Given the description of an element on the screen output the (x, y) to click on. 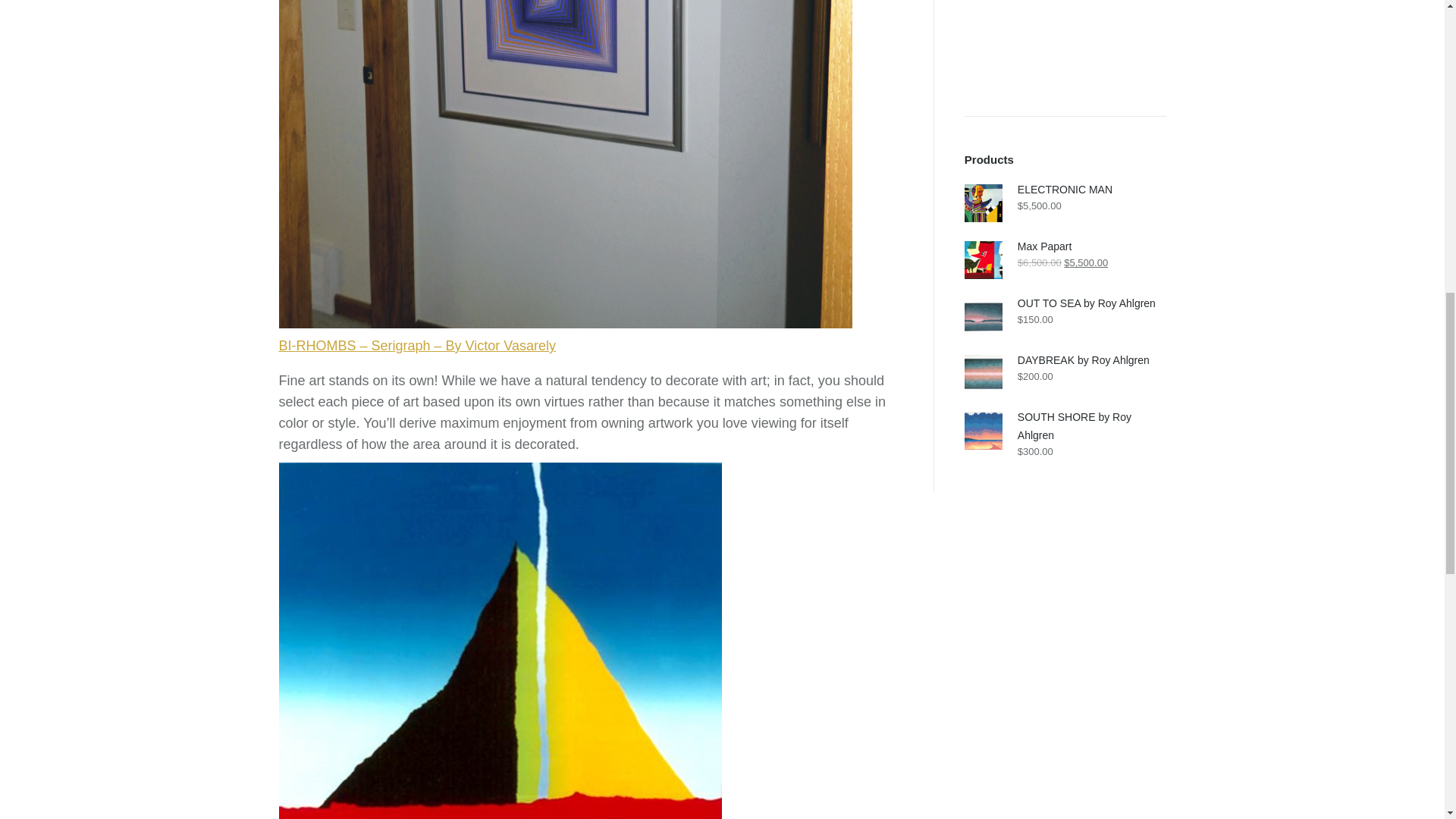
DAYBREAK by Roy Ahlgren (1064, 360)
ELECTRONIC MAN (1064, 189)
SOUTH SHORE by Roy Ahlgren (1064, 425)
Max Papart (1064, 246)
OUT TO SEA by Roy Ahlgren (1064, 303)
